Given the description of an element on the screen output the (x, y) to click on. 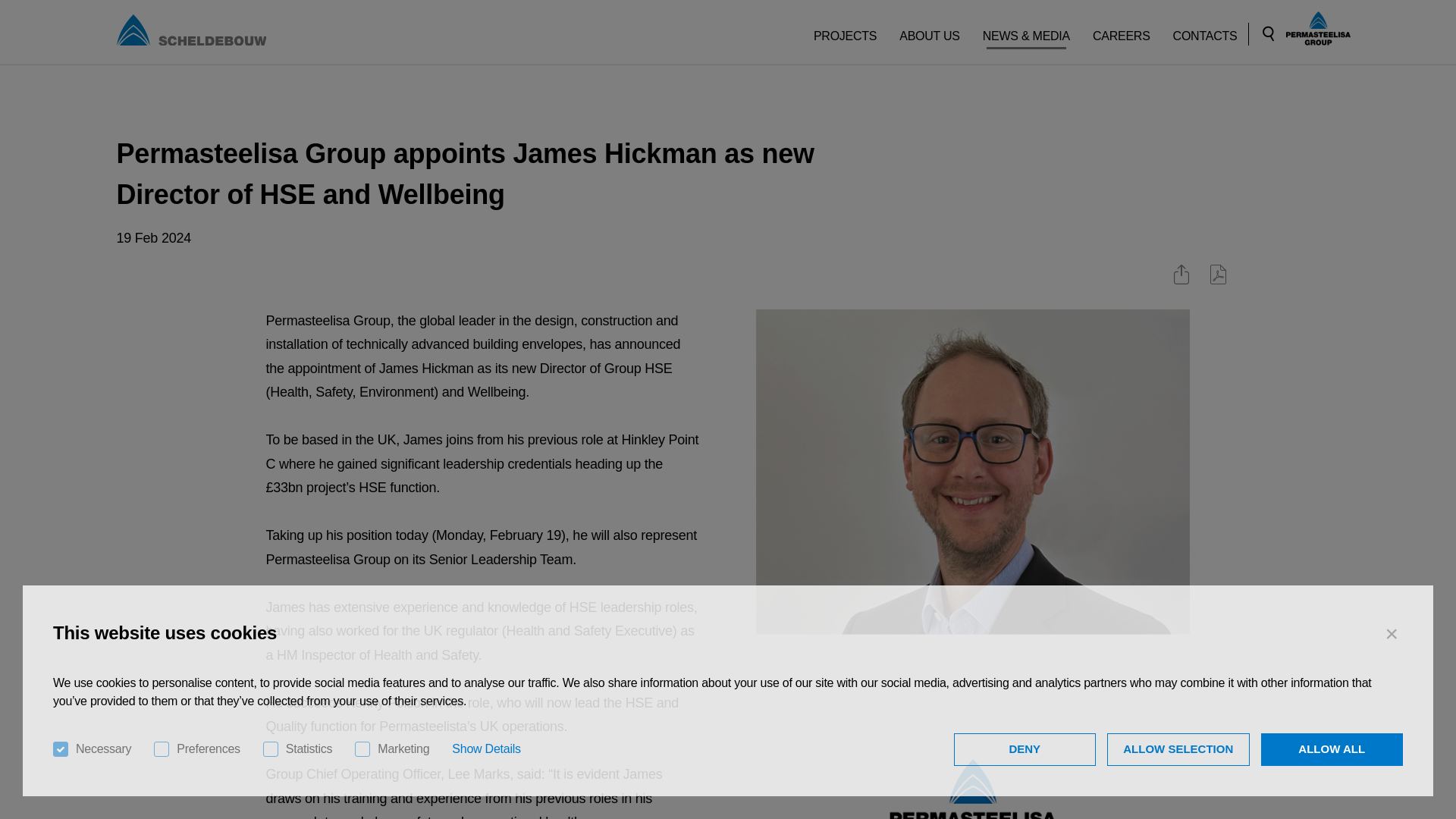
DENY (1024, 749)
ALLOW ALL (1331, 749)
ALLOW SELECTION (1177, 749)
CAREERS (1121, 30)
Show Details (485, 749)
ABOUT US (929, 30)
Permasteelisa Group Homepage (1318, 28)
CONTACTS (1205, 30)
PROJECTS (845, 30)
